Given the description of an element on the screen output the (x, y) to click on. 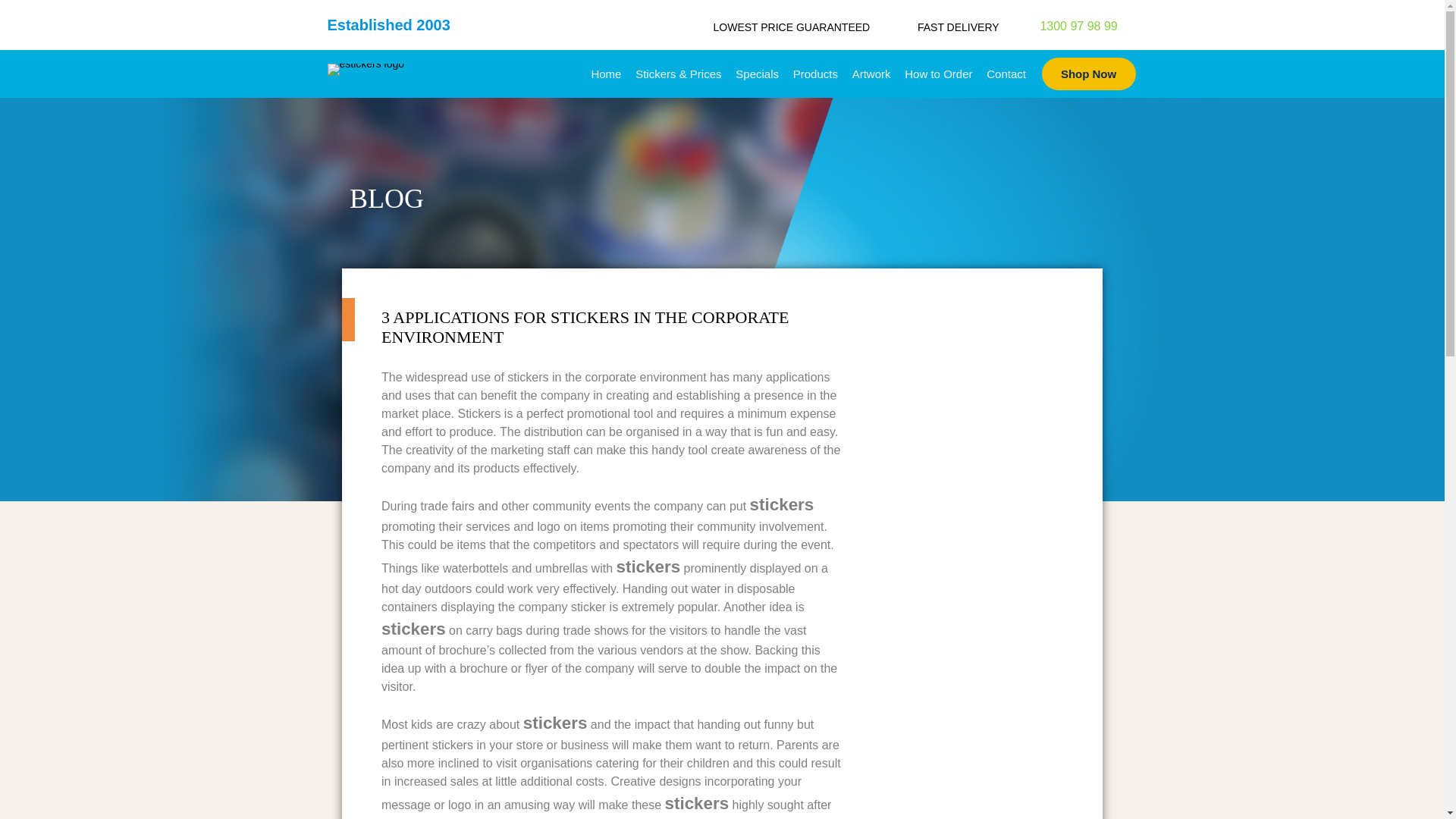
Home (605, 73)
Contact (1005, 73)
Products (815, 73)
How to Order (938, 73)
1300 97 98 99 (1066, 25)
1300 97 98 99 (1066, 25)
Artwork (871, 73)
LOWEST PRICE GUARANTEED (791, 27)
Specials (757, 73)
LOWEST PRICE GUARANTEED (791, 27)
